Given the description of an element on the screen output the (x, y) to click on. 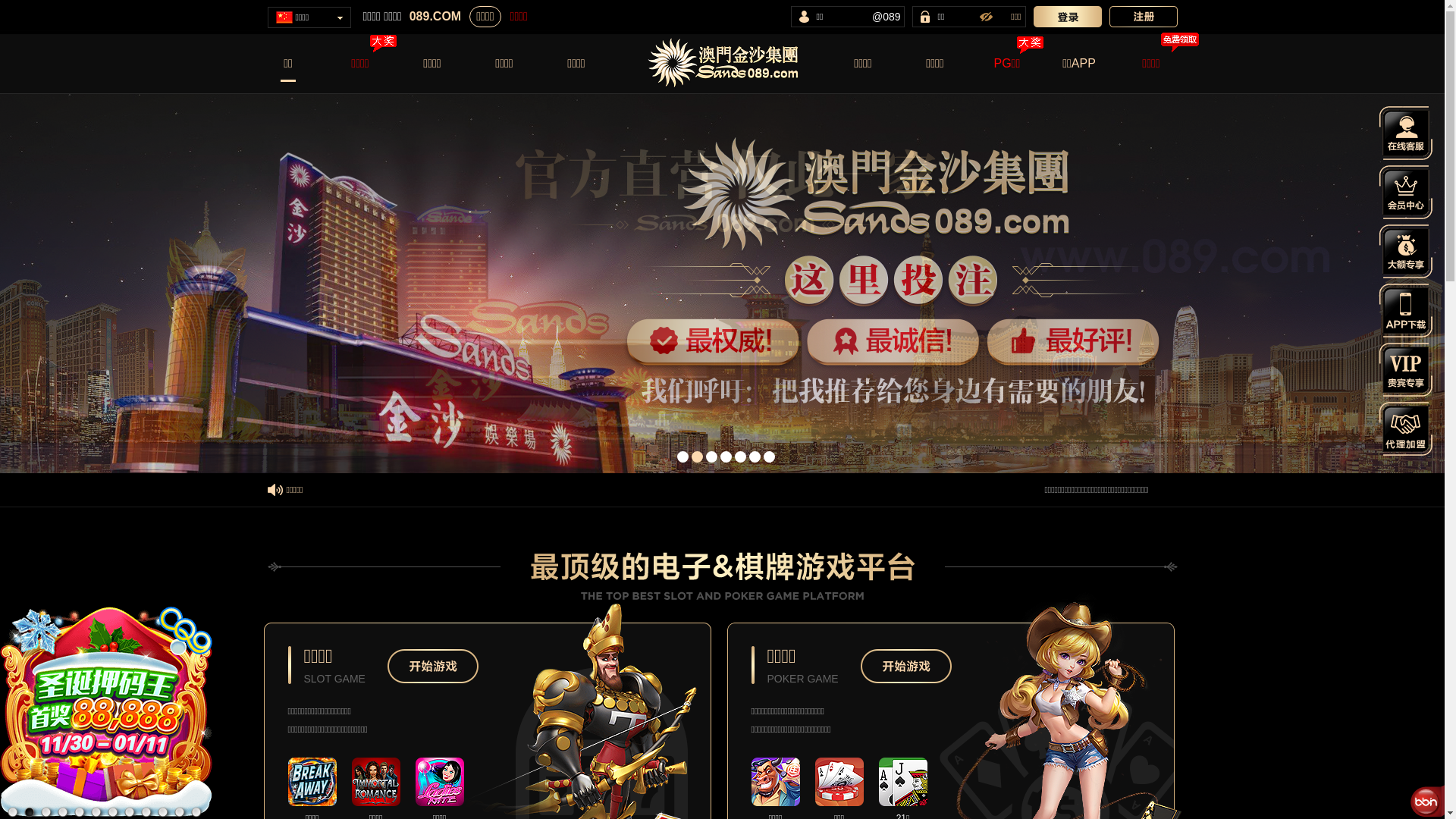
089.COM Element type: text (435, 16)
